Given the description of an element on the screen output the (x, y) to click on. 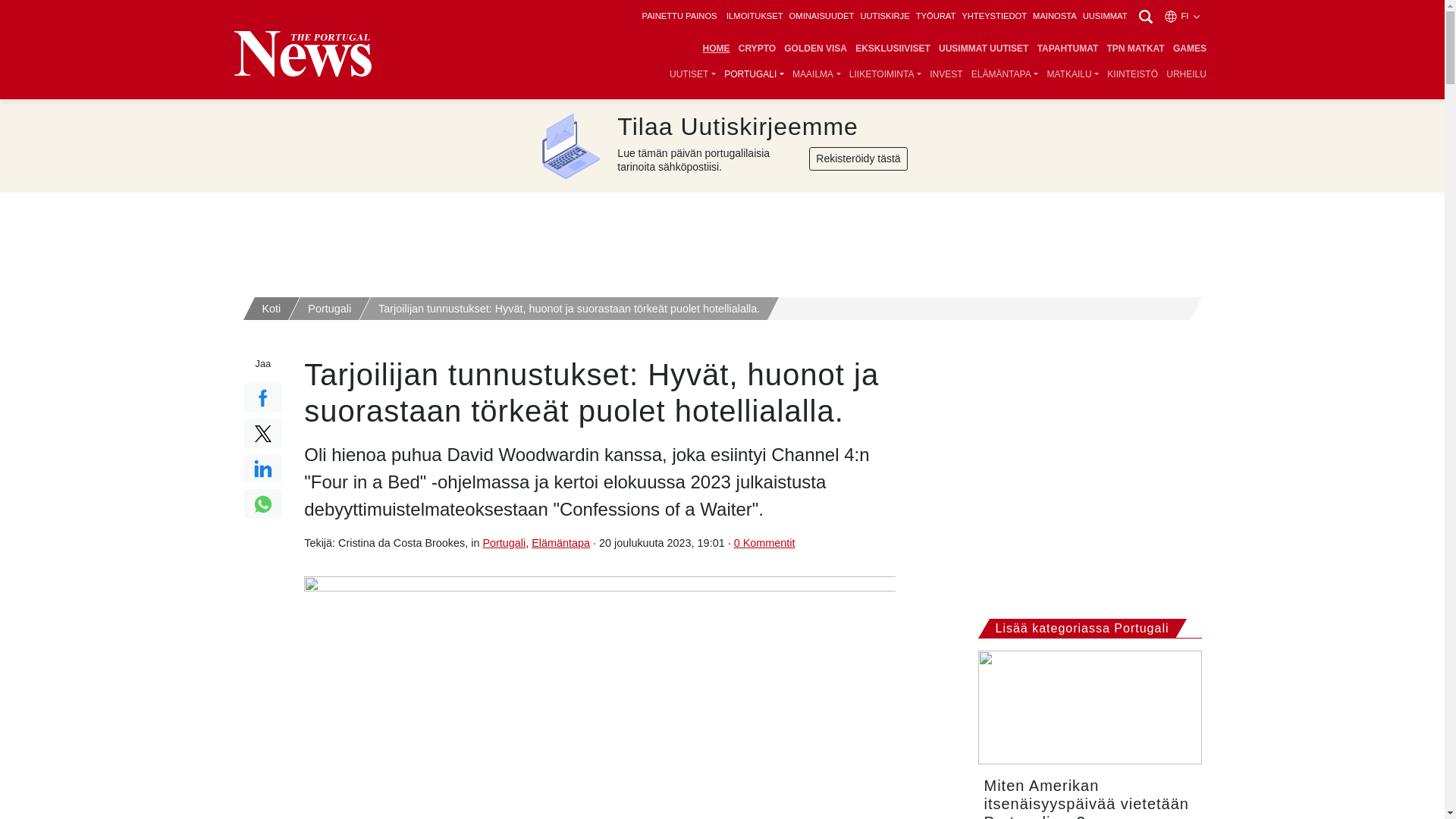
EKSKLUSIIVISET (892, 48)
GAMES (1189, 48)
MAINOSTA (1054, 15)
UUTISET (692, 73)
UUSIMMAT (1104, 15)
PORTUGALI (754, 73)
PAINETTU PAINOS (679, 15)
FI (1182, 15)
TPN MATKAT (1135, 48)
YHTEYSTIEDOT (993, 15)
UUSIMMAT UUTISET (983, 48)
ILMOITUKSET (754, 15)
UUTISKIRJE (884, 15)
CRYPTO (756, 48)
HOME (715, 48)
